Given the description of an element on the screen output the (x, y) to click on. 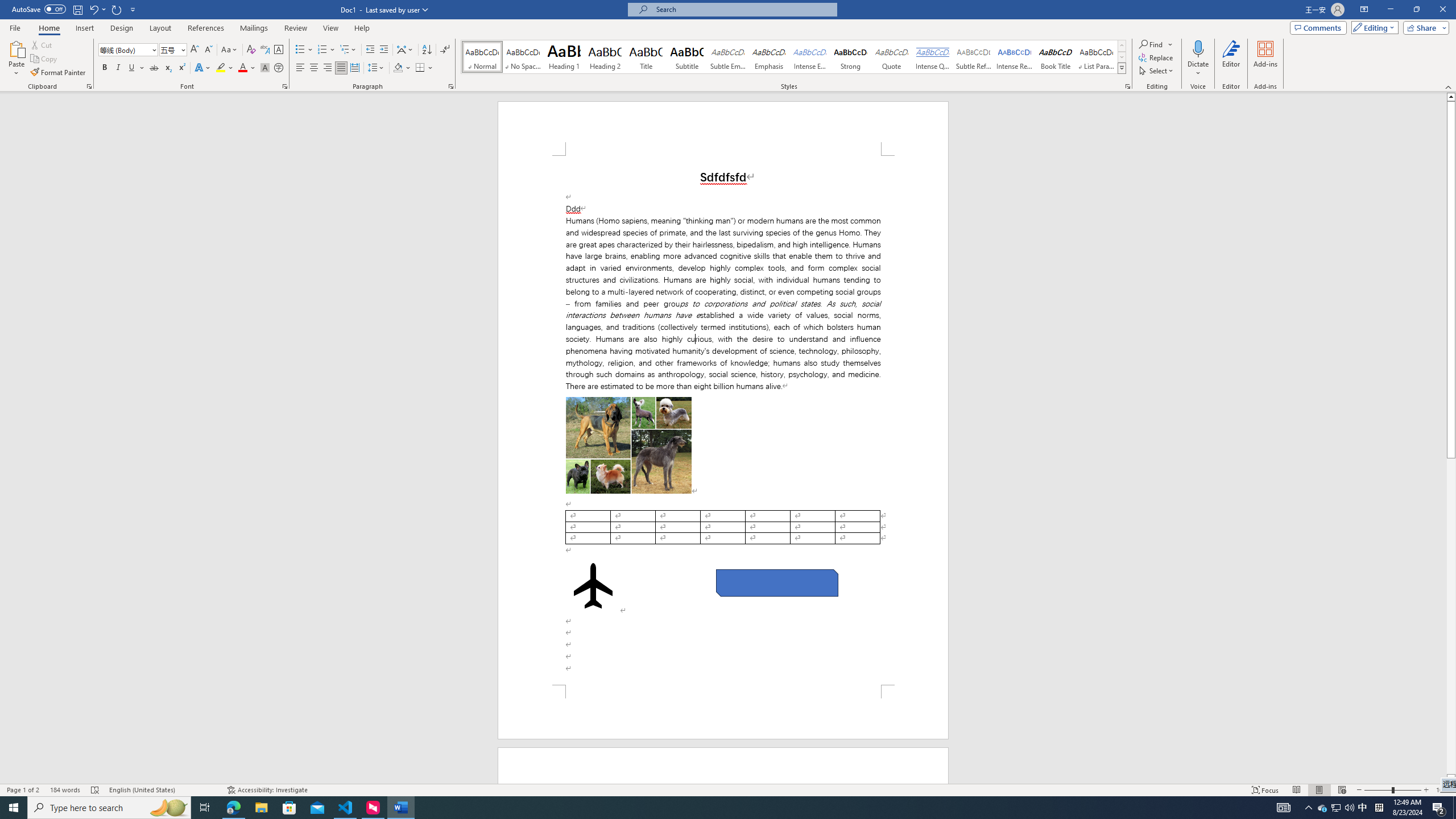
Line and Paragraph Spacing (376, 67)
Page 1 content (723, 419)
Line down (1450, 778)
Text Highlight Color (224, 67)
Undo Italic (96, 9)
Sort... (426, 49)
Intense Emphasis (809, 56)
